Given the description of an element on the screen output the (x, y) to click on. 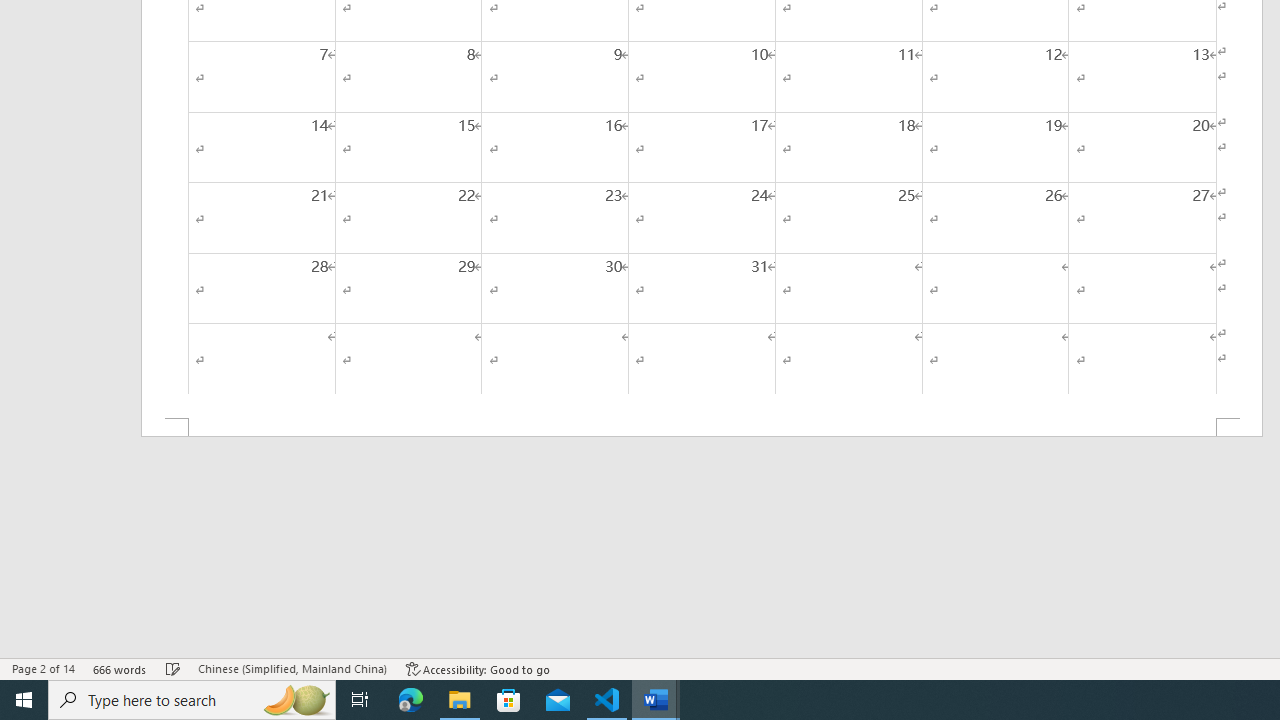
Task View (359, 699)
Start (24, 699)
